Given the description of an element on the screen output the (x, y) to click on. 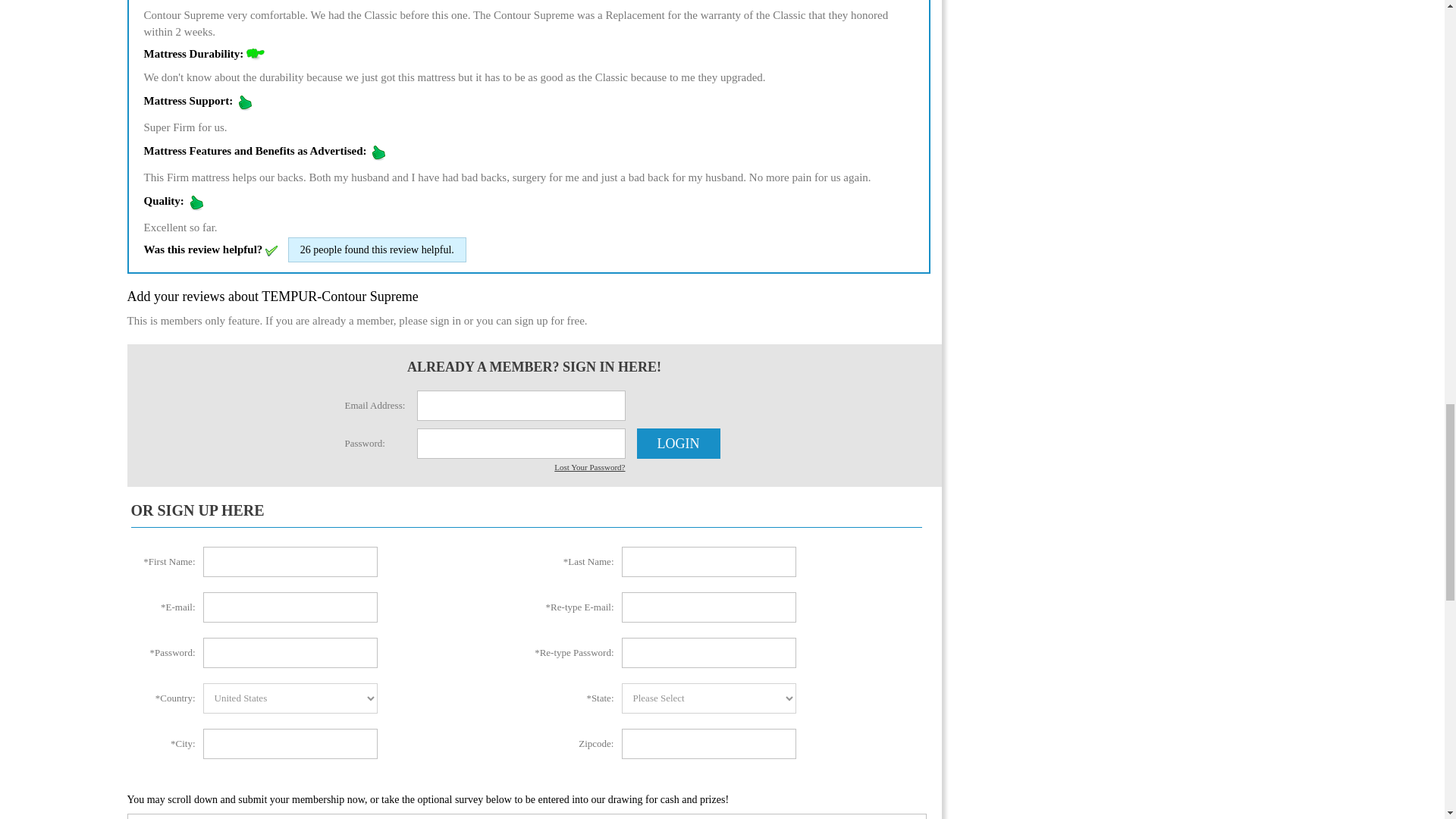
Login (678, 443)
up (244, 102)
neutral (255, 54)
